Given the description of an element on the screen output the (x, y) to click on. 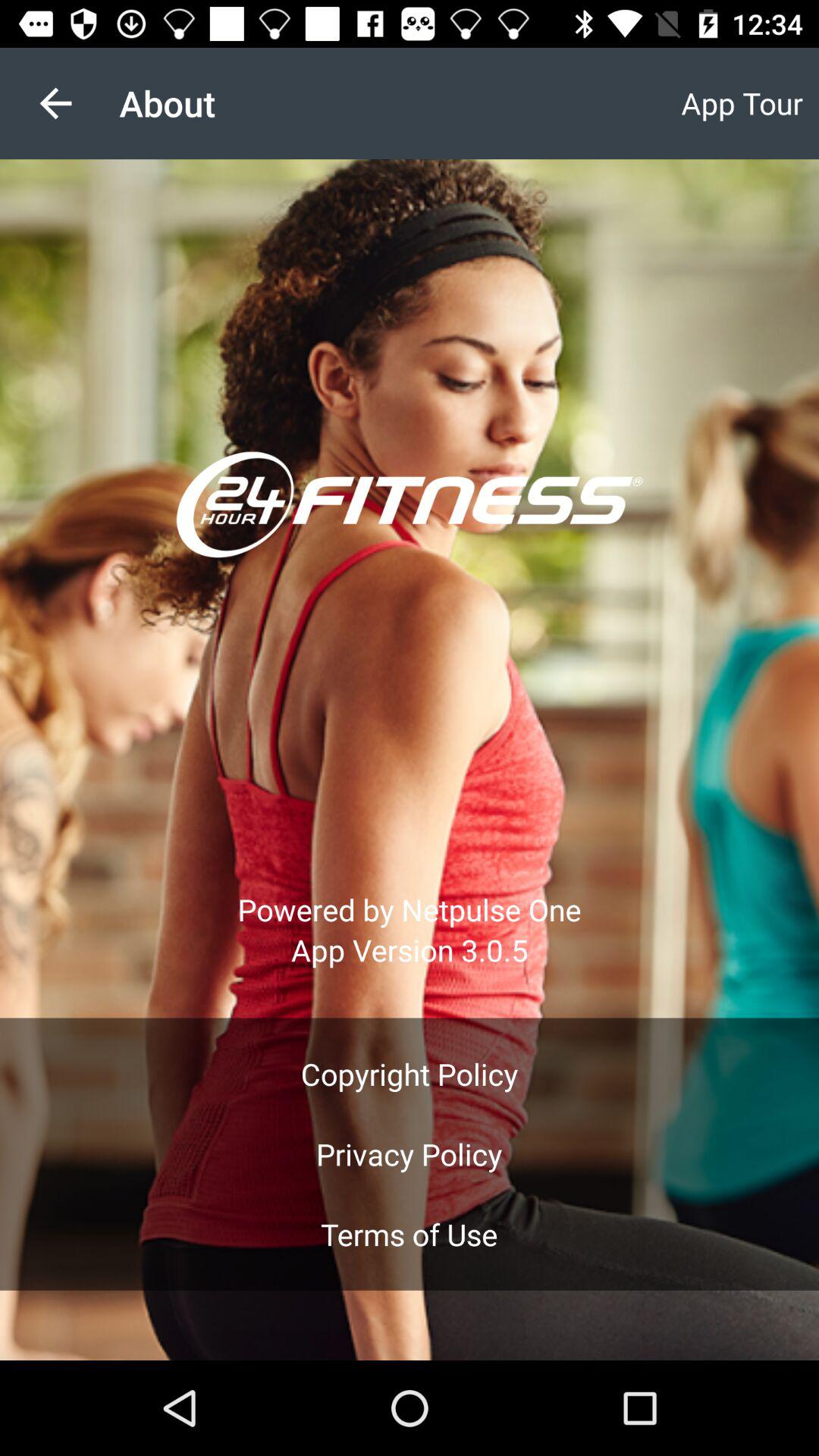
open item next to the about (742, 103)
